Given the description of an element on the screen output the (x, y) to click on. 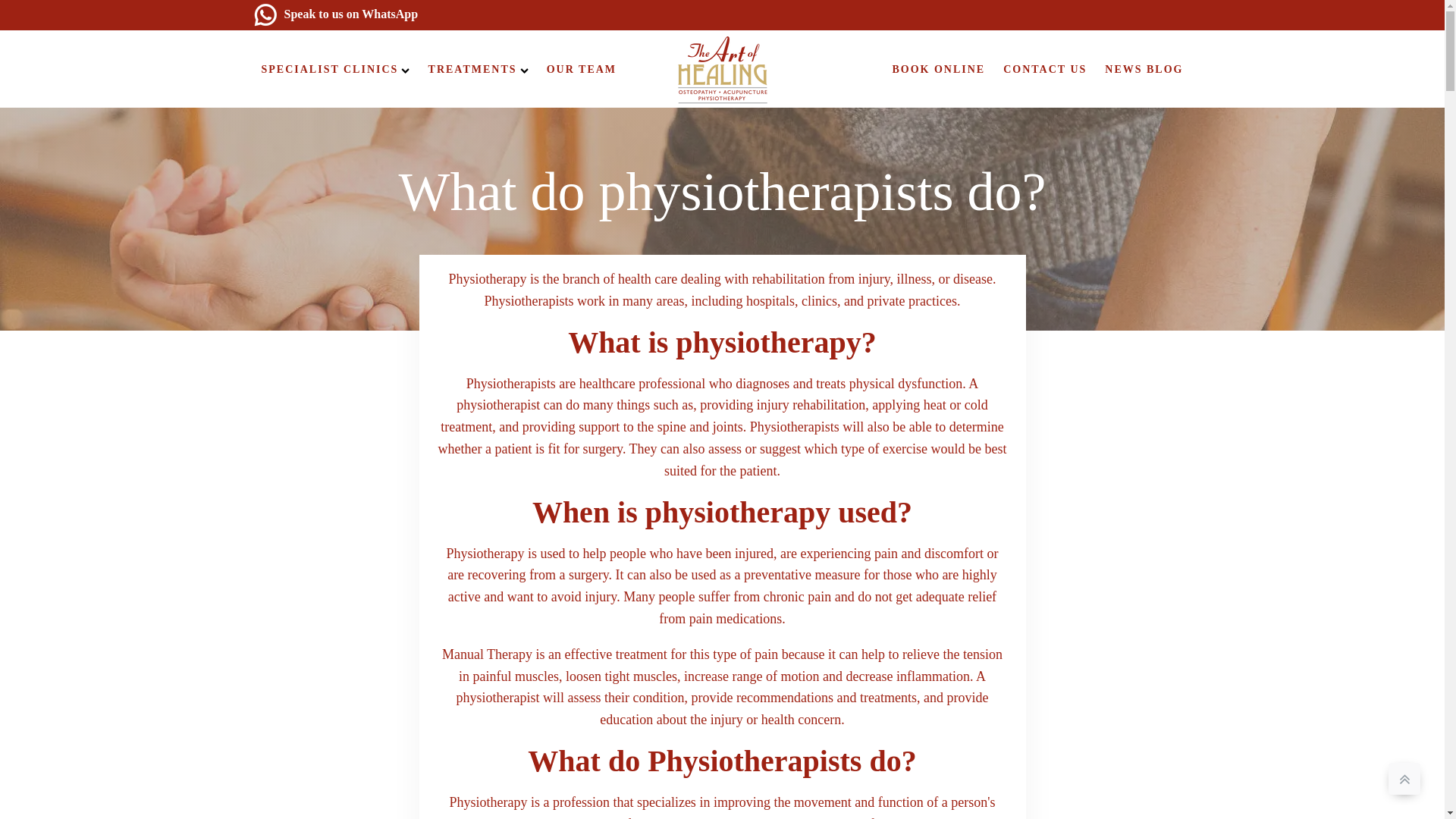
OUR TEAM (581, 69)
CONTACT US (1045, 69)
TREATMENTS (478, 69)
NEWS BLOG (1144, 69)
Speak to us on WhatsApp  (335, 14)
SPECIALIST CLINICS (335, 69)
BOOK ONLINE (938, 69)
